Given the description of an element on the screen output the (x, y) to click on. 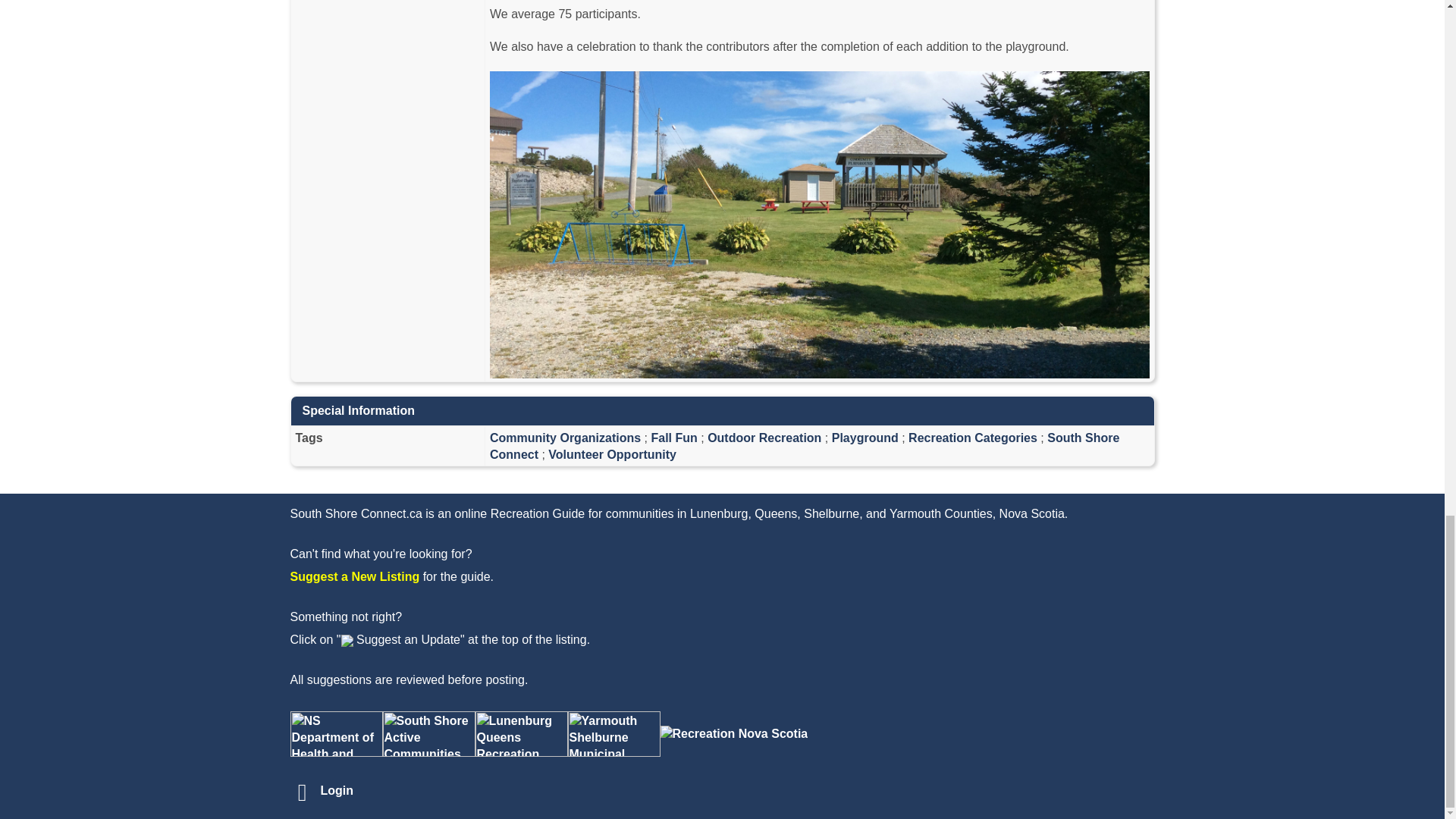
South Shore Active Communities (427, 733)
Outdoor Recreation (764, 437)
NS Department of Health and Wellness (335, 733)
Recreation Categories (972, 437)
Yarmouth Shelburne Municipal Recreation Association (613, 733)
South Shore Connect (804, 446)
Fall Fun (673, 437)
Community Organizations (564, 437)
Login (336, 789)
Suggest a New Listing (354, 576)
